Given the description of an element on the screen output the (x, y) to click on. 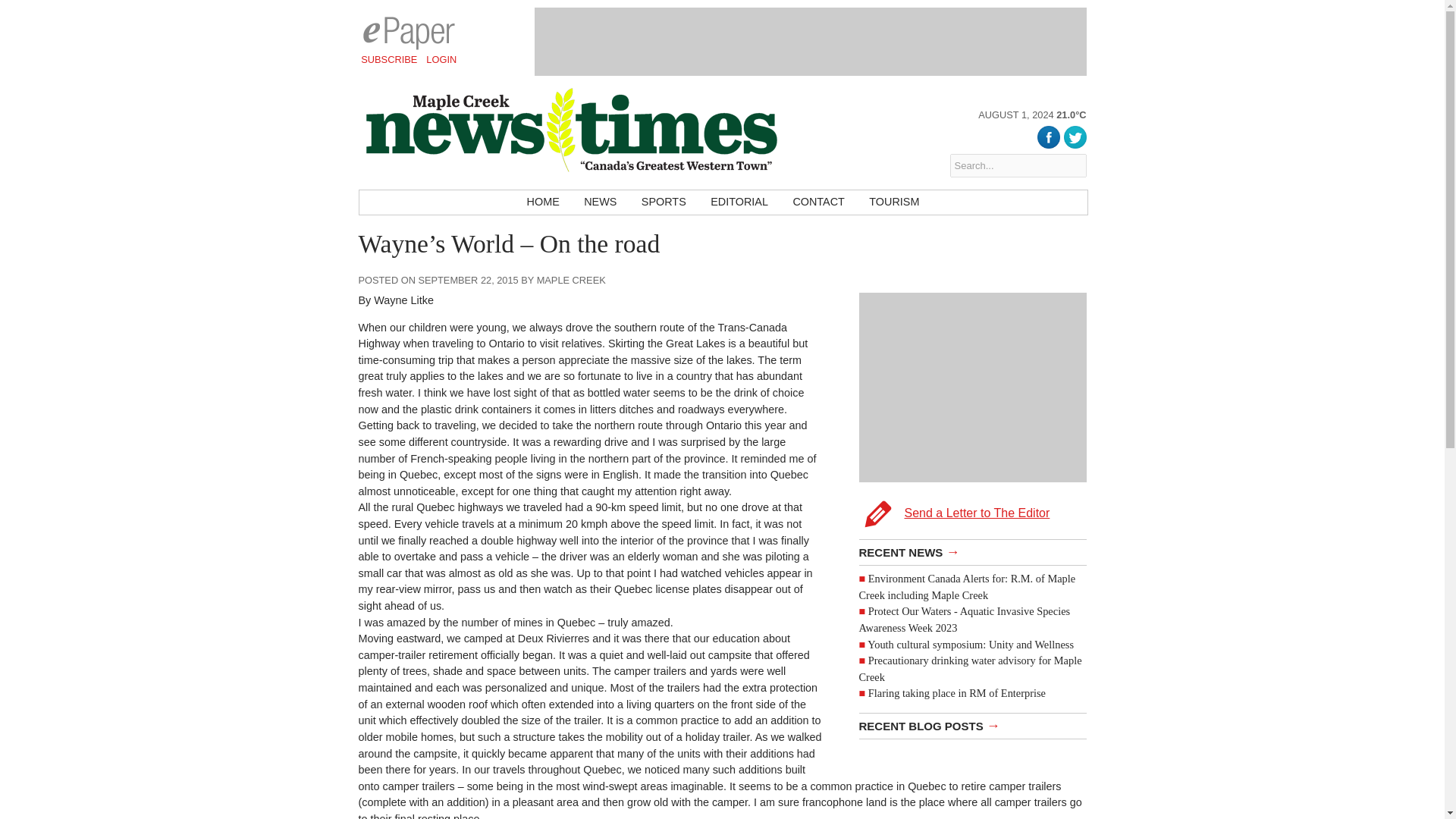
EDITORIAL (739, 202)
Youth cultural symposium: Unity and Wellness (970, 644)
CONTACT (817, 202)
Flaring taking place in RM of Enterprise (956, 693)
Precautionary drinking water advisory for Maple Creek (970, 668)
LOGIN (441, 58)
TOURISM (894, 202)
SUBSCRIBE (389, 58)
HOME (543, 202)
NEWS (600, 202)
SPORTS (663, 202)
Send a Letter to The Editor (972, 412)
